Given the description of an element on the screen output the (x, y) to click on. 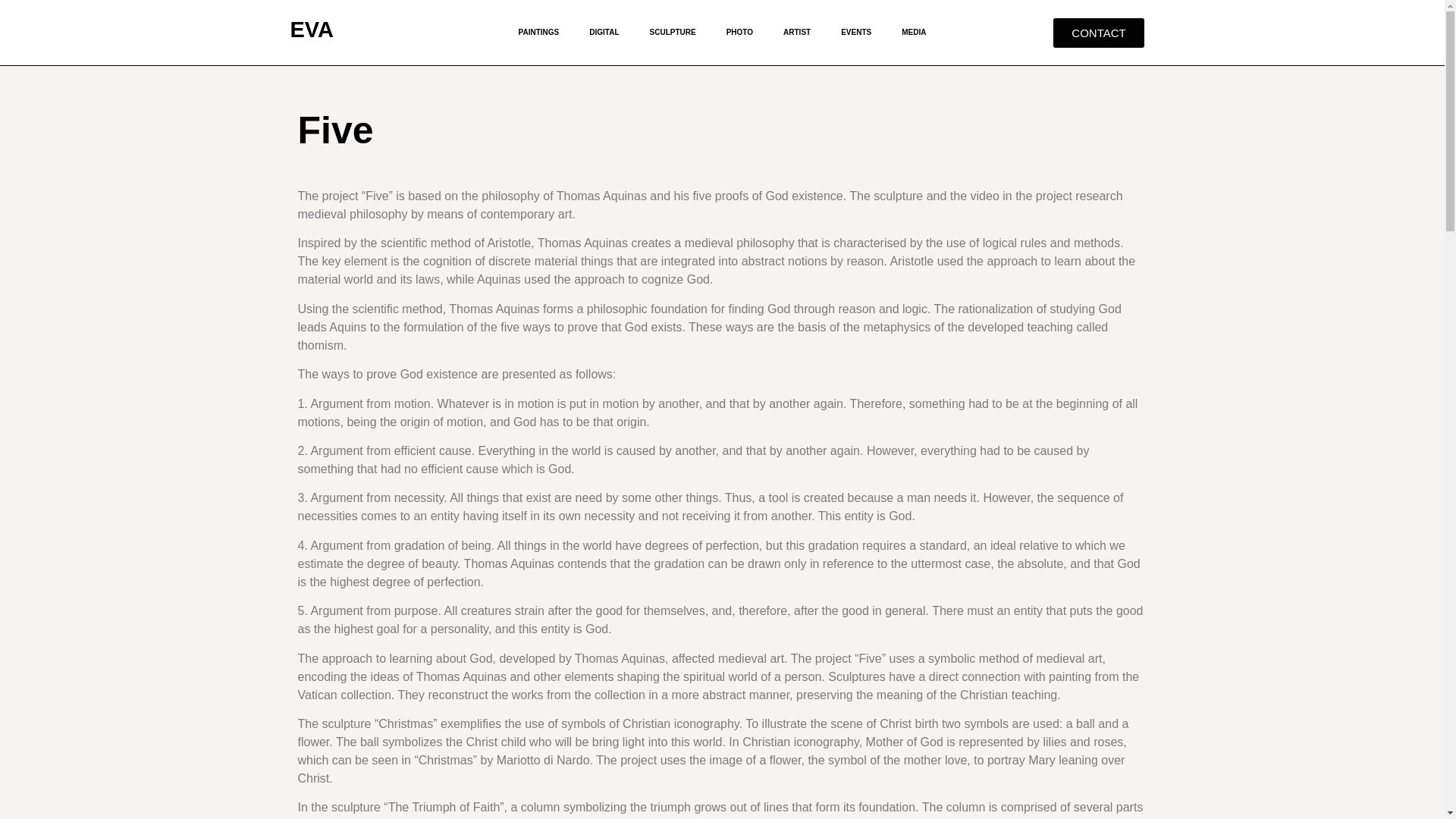
PAINTINGS (539, 32)
EVA (311, 29)
ARTIST (796, 32)
PHOTO (739, 32)
EVENTS (855, 32)
CONTACT (1097, 32)
MEDIA (913, 32)
SCULPTURE (672, 32)
DIGITAL (603, 32)
